Given the description of an element on the screen output the (x, y) to click on. 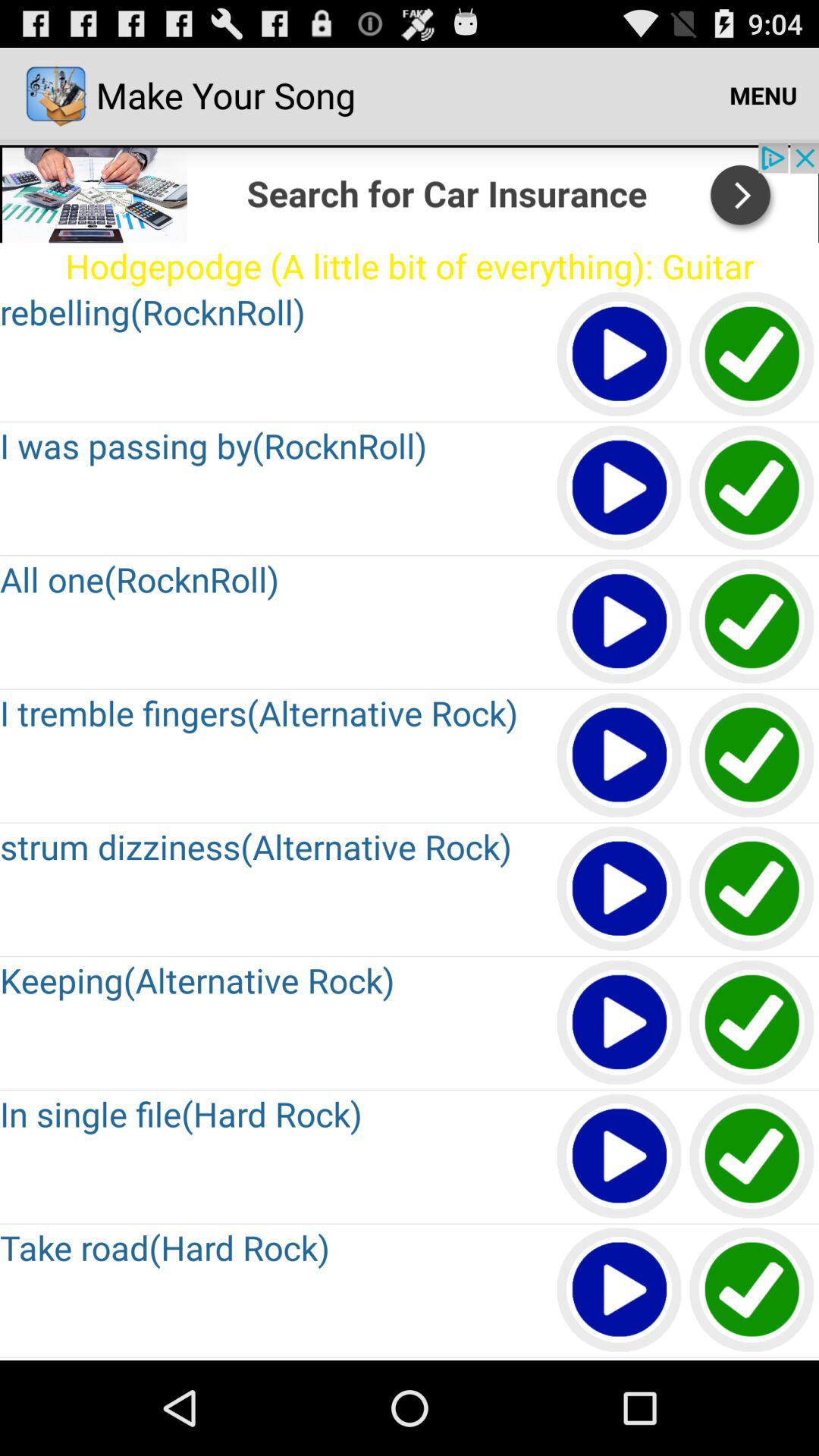
go to pause (619, 755)
